Given the description of an element on the screen output the (x, y) to click on. 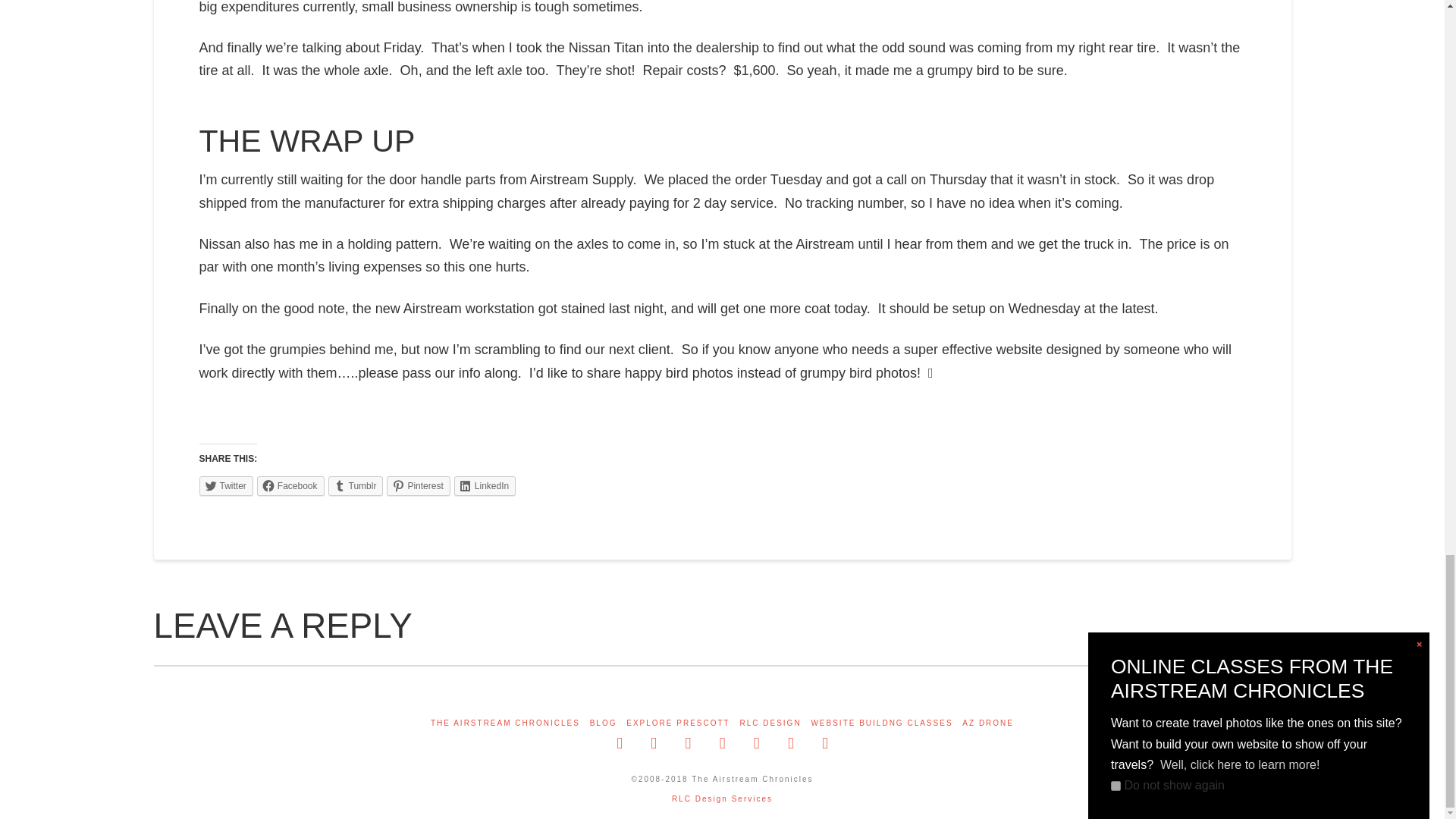
Click to share on LinkedIn (484, 485)
Click to share on Pinterest (418, 485)
Click to share on Facebook (290, 485)
Click to share on Twitter (224, 485)
Twitter (224, 485)
Click to share on Tumblr (356, 485)
